Given the description of an element on the screen output the (x, y) to click on. 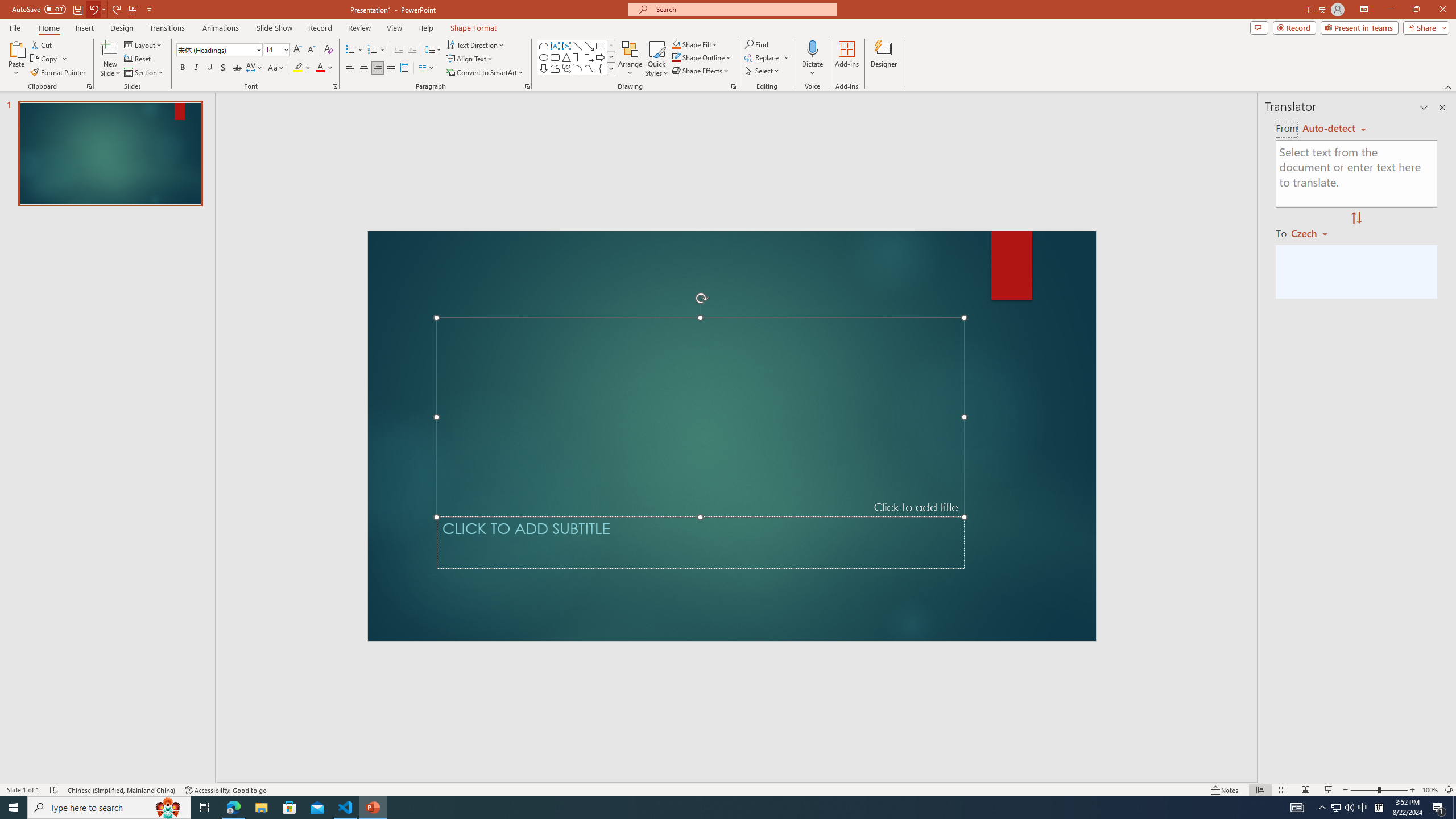
Zoom 100% (1430, 790)
